Given the description of an element on the screen output the (x, y) to click on. 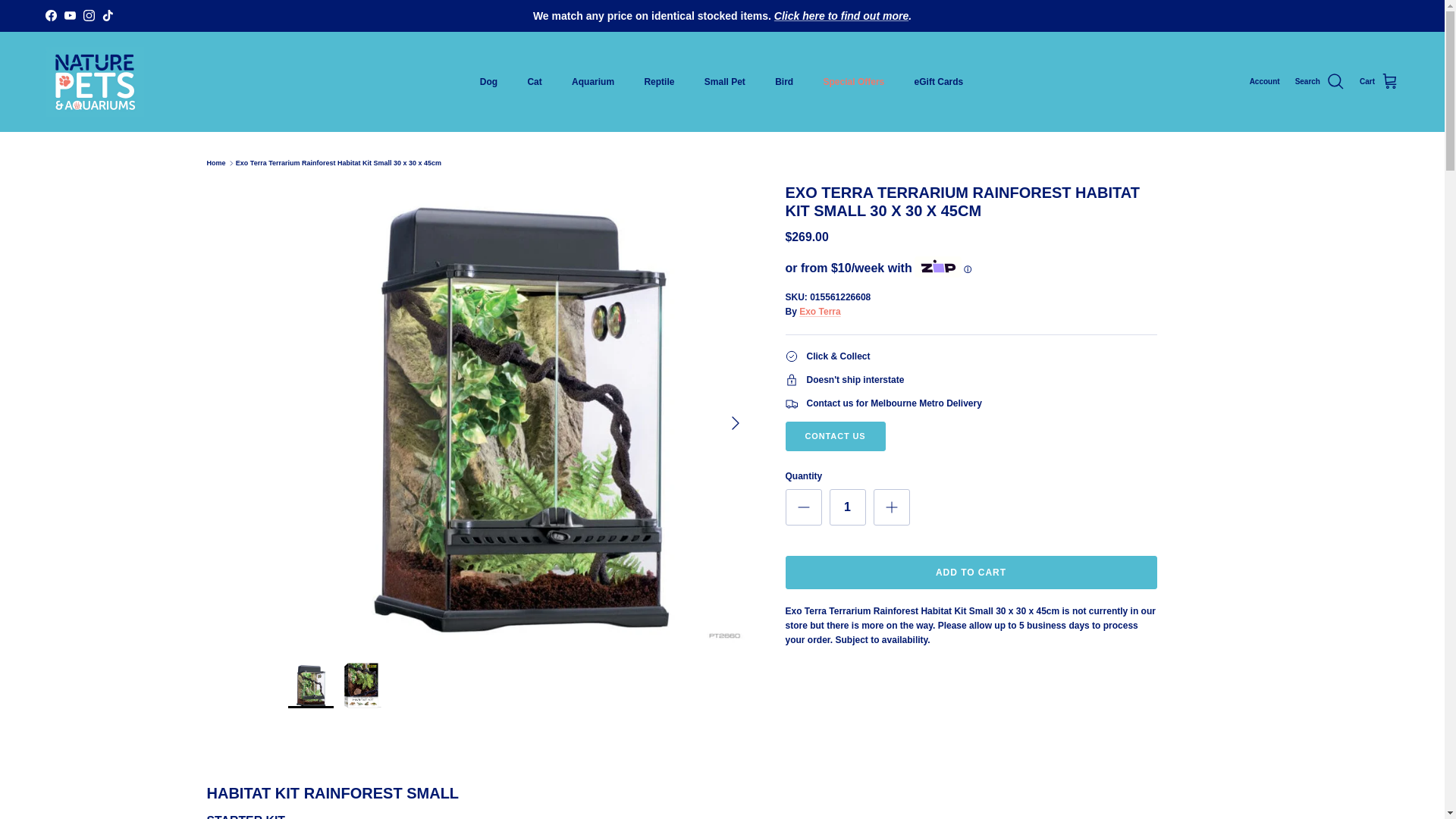
eGift Cards (938, 81)
Search (1319, 81)
Dog (488, 81)
Aquarium (592, 81)
YouTube (69, 15)
1 (847, 506)
Reptile (658, 81)
Bird (783, 81)
Price Match (841, 15)
Instagram (88, 15)
Account (1264, 81)
Special Offers (853, 81)
Facebook (50, 15)
Small Pet (724, 81)
Cart (1379, 81)
